Given the description of an element on the screen output the (x, y) to click on. 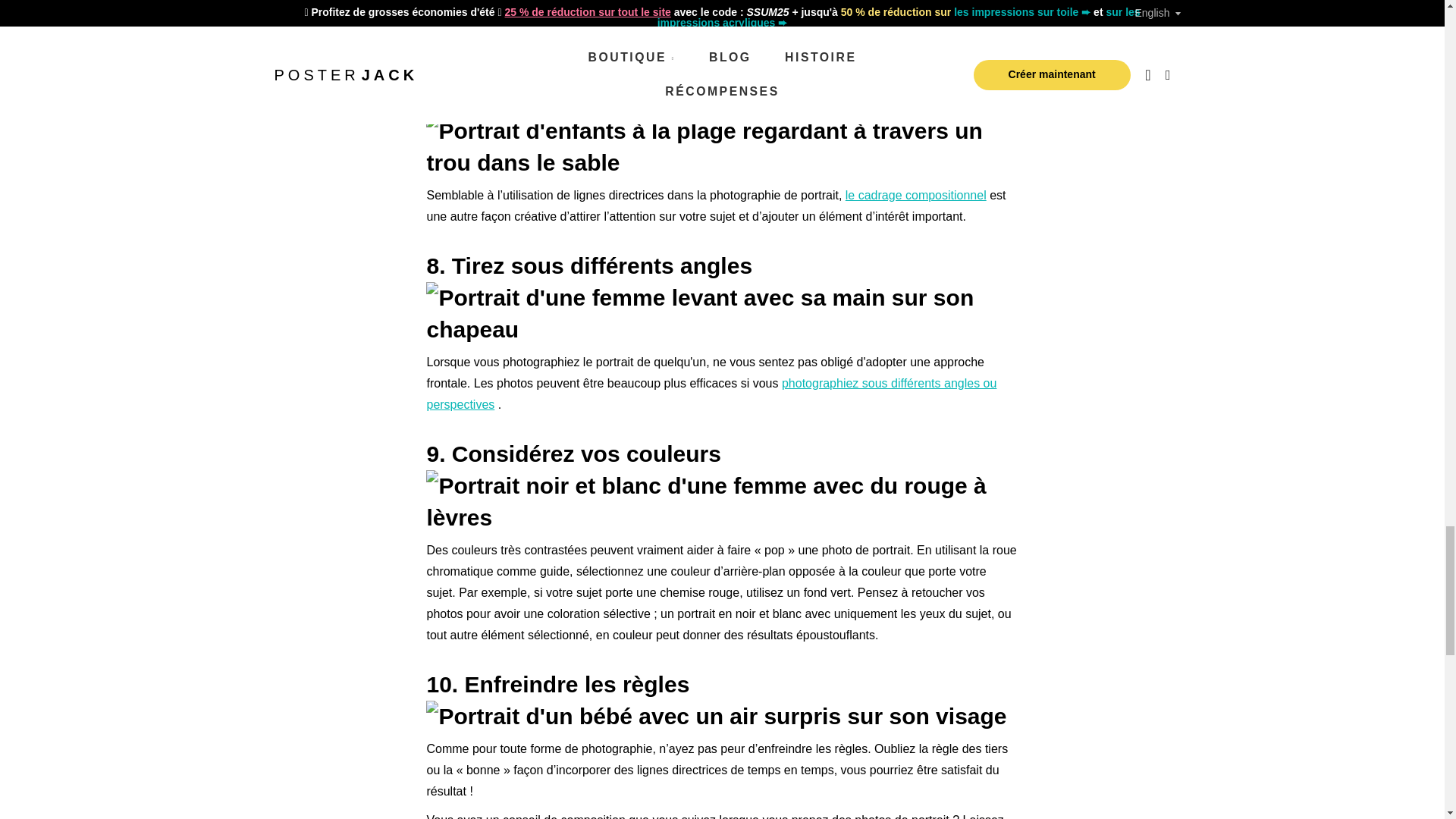
Conseils pour la photographie de cadrage compositionnel (916, 195)
Utiliser des lignes directrices en photographie (894, 6)
